Given the description of an element on the screen output the (x, y) to click on. 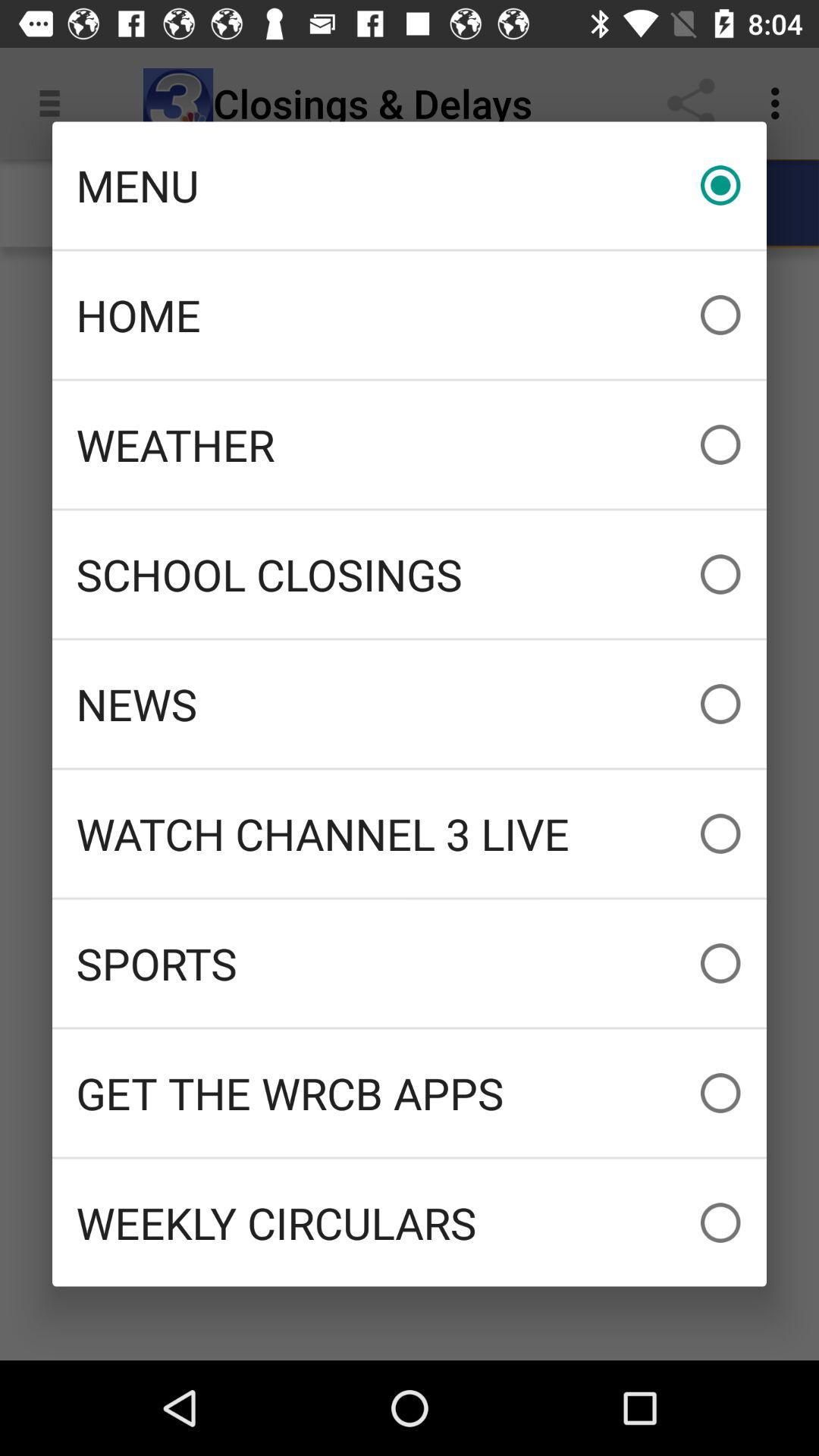
jump until the menu icon (409, 185)
